Given the description of an element on the screen output the (x, y) to click on. 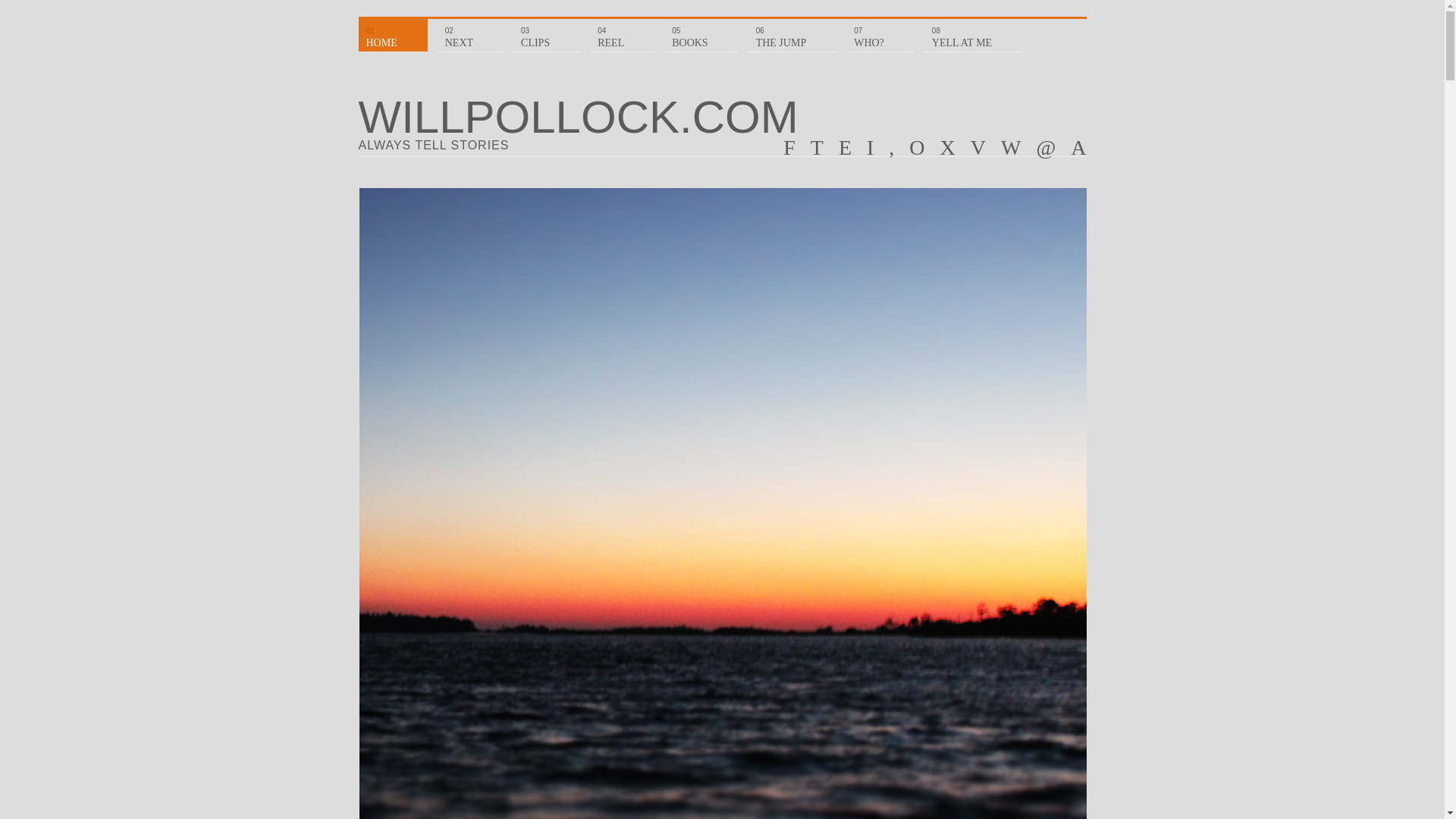
T (824, 146)
O (923, 146)
I (877, 146)
CLIPS (546, 32)
HOME (392, 32)
YELL AT ME (973, 32)
REEL (621, 32)
V (986, 146)
F (796, 146)
A (1078, 146)
WHO? (879, 32)
E (852, 146)
X (955, 146)
W (1018, 146)
BOOKS (700, 32)
